Given the description of an element on the screen output the (x, y) to click on. 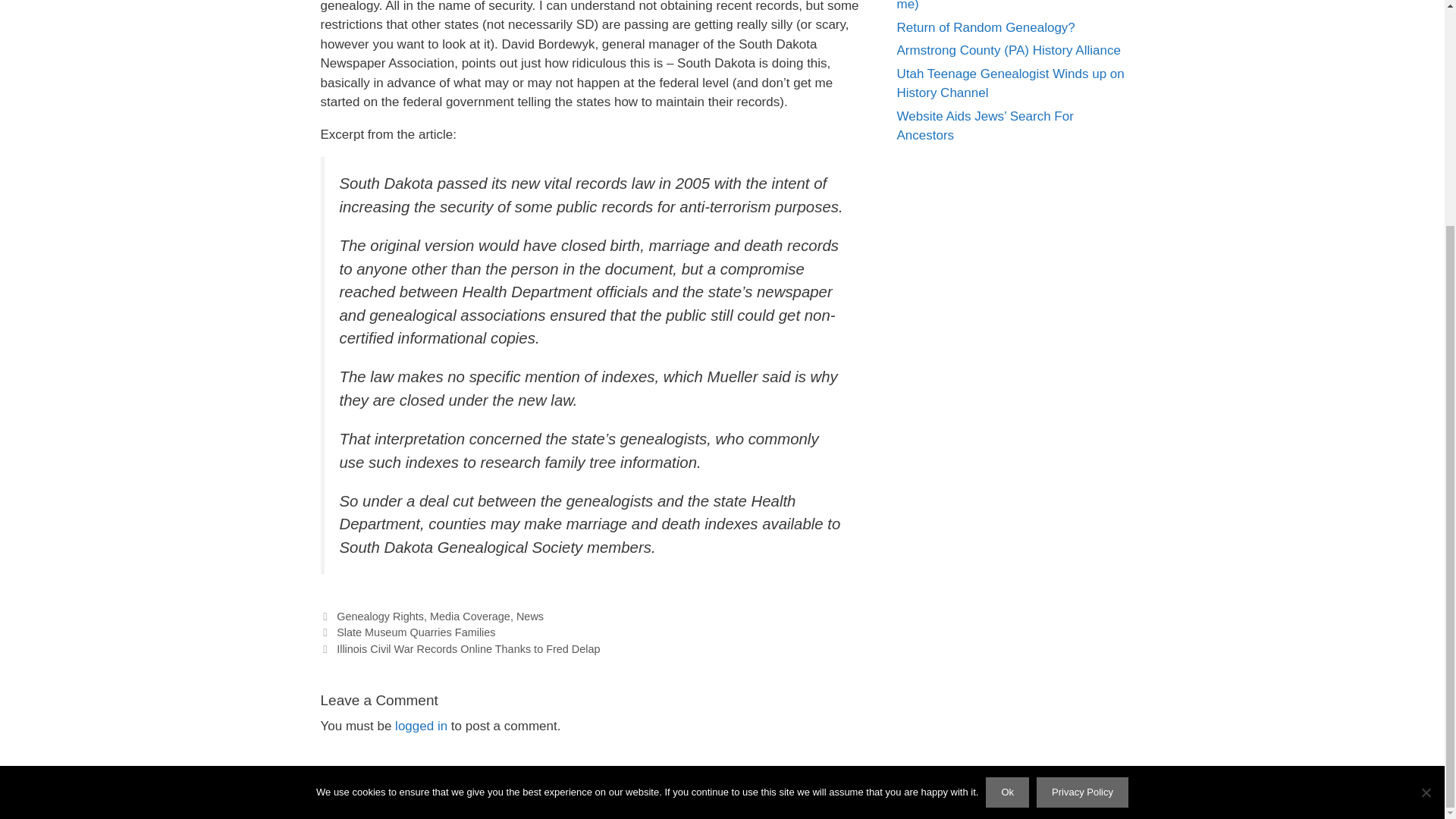
Utah Teenage Genealogist Winds up on History Channel (1010, 83)
Contact Us (821, 794)
Ok (1007, 490)
Return of Random Genealogy? (985, 26)
Privacy Policy (1082, 490)
News (529, 616)
Slate Museum Quarries Families (415, 632)
logged in (420, 726)
Media Coverage (470, 616)
Genealogy Rights (379, 616)
Contact us (821, 794)
Illinois Civil War Records Online Thanks to Fred Delap (467, 648)
No (1425, 490)
